Given the description of an element on the screen output the (x, y) to click on. 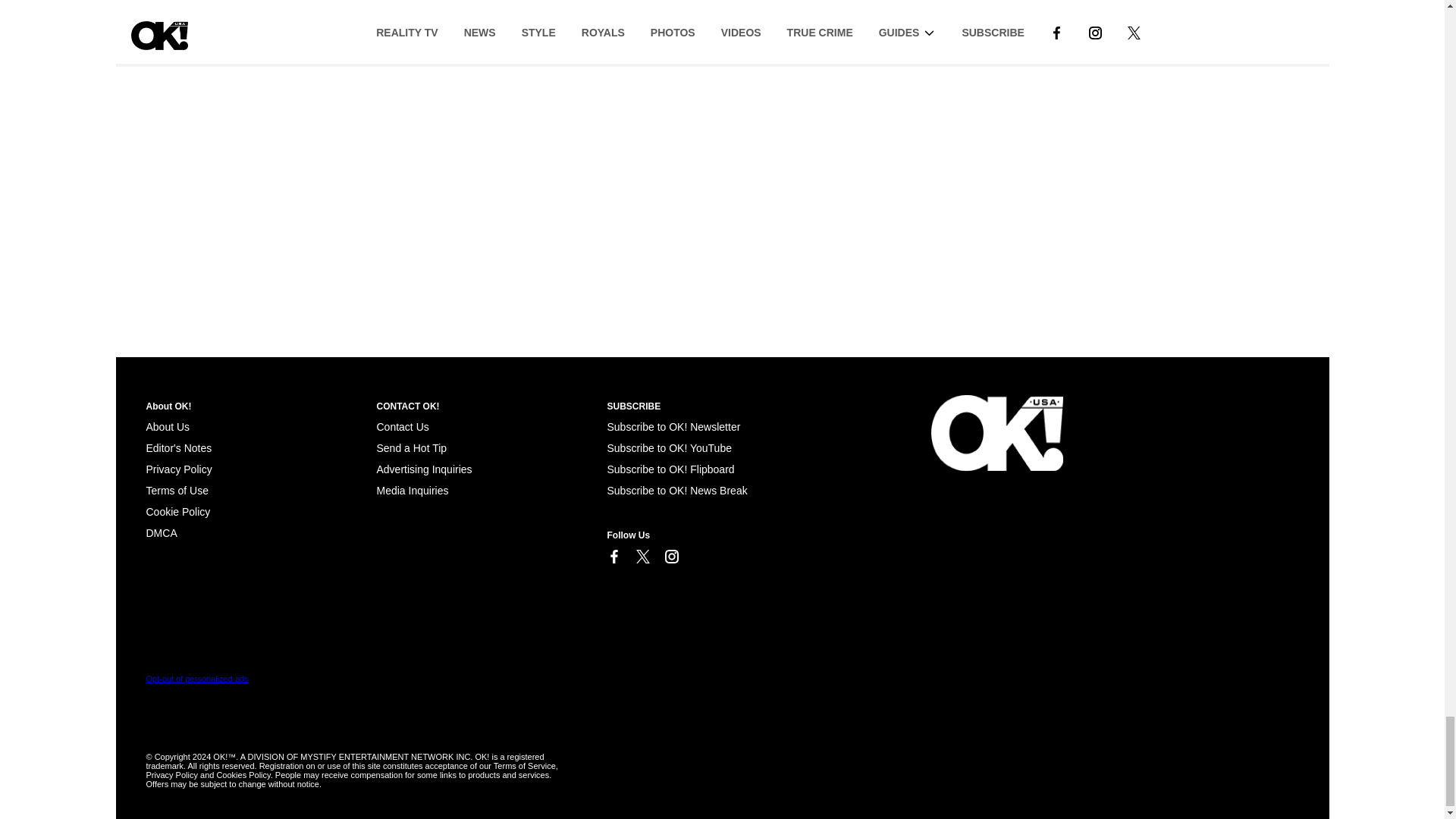
Editor's Notes (178, 448)
Send a Hot Tip (410, 448)
Link to Instagram (670, 556)
Contact Us (401, 426)
Terms of Use (176, 490)
Link to X (641, 556)
Cookie Policy (160, 532)
Cookie Policy (177, 511)
About Us (167, 426)
Link to Facebook (613, 556)
